Given the description of an element on the screen output the (x, y) to click on. 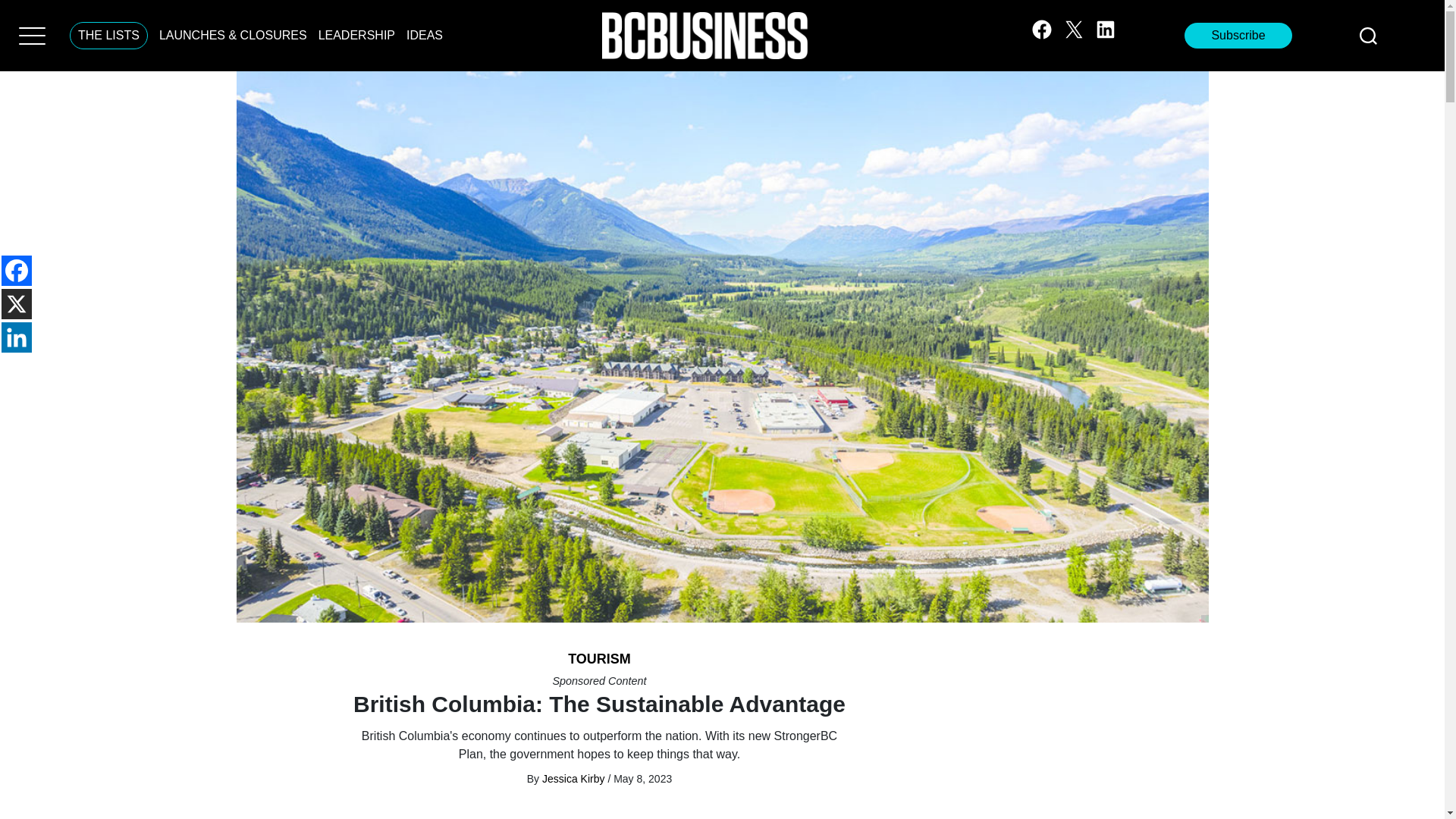
X (16, 304)
3rd party ad content (1084, 733)
Facebook (16, 270)
Linkedin (16, 337)
